Given the description of an element on the screen output the (x, y) to click on. 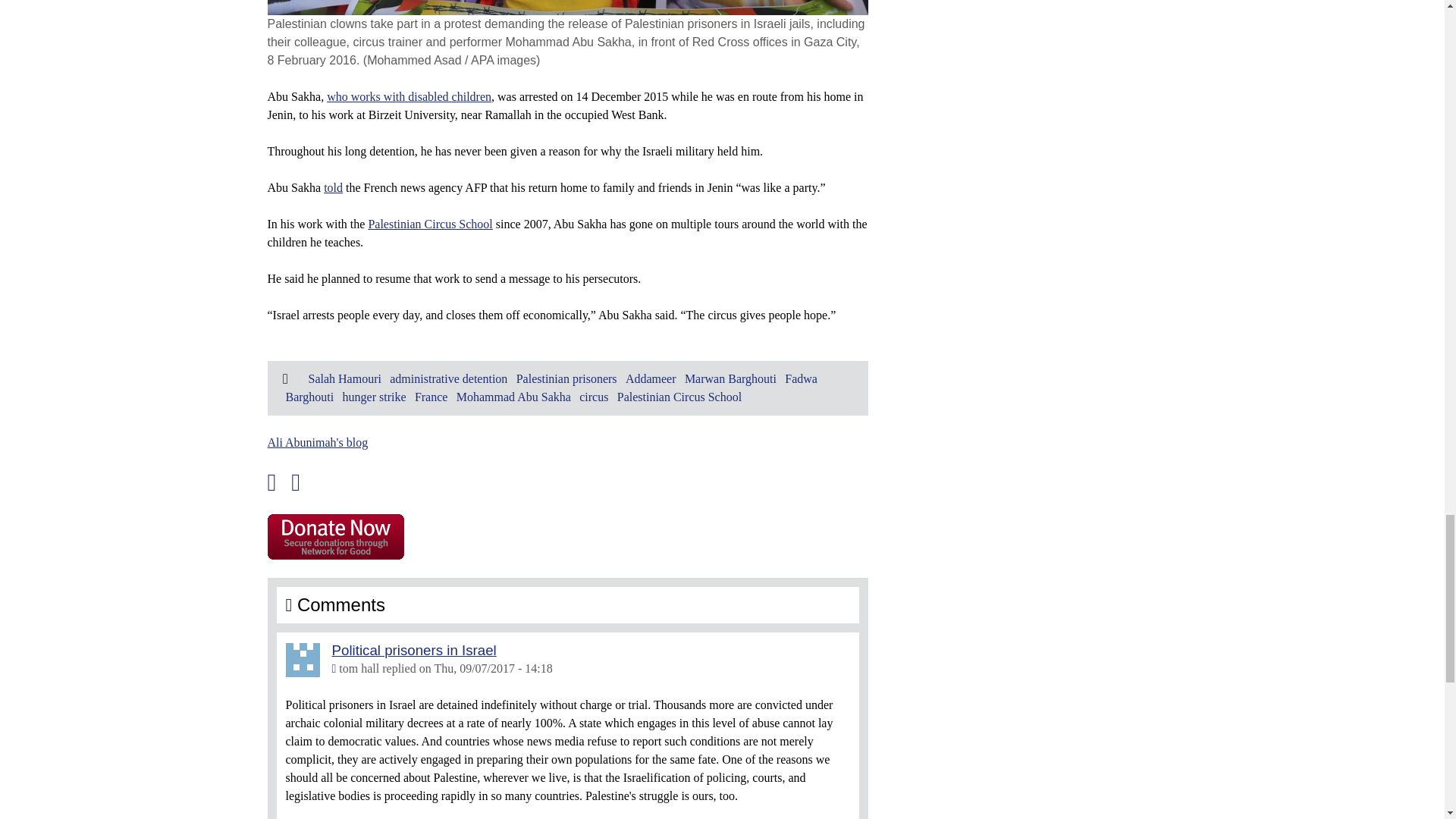
Read Ali Abunimah's latest blog entries. (317, 441)
Addameer (651, 378)
told (332, 187)
Palestinian Circus School (430, 223)
administrative detention (448, 378)
Palestinian prisoners (566, 378)
who works with disabled children (409, 96)
Salah Hamouri (343, 378)
